Given the description of an element on the screen output the (x, y) to click on. 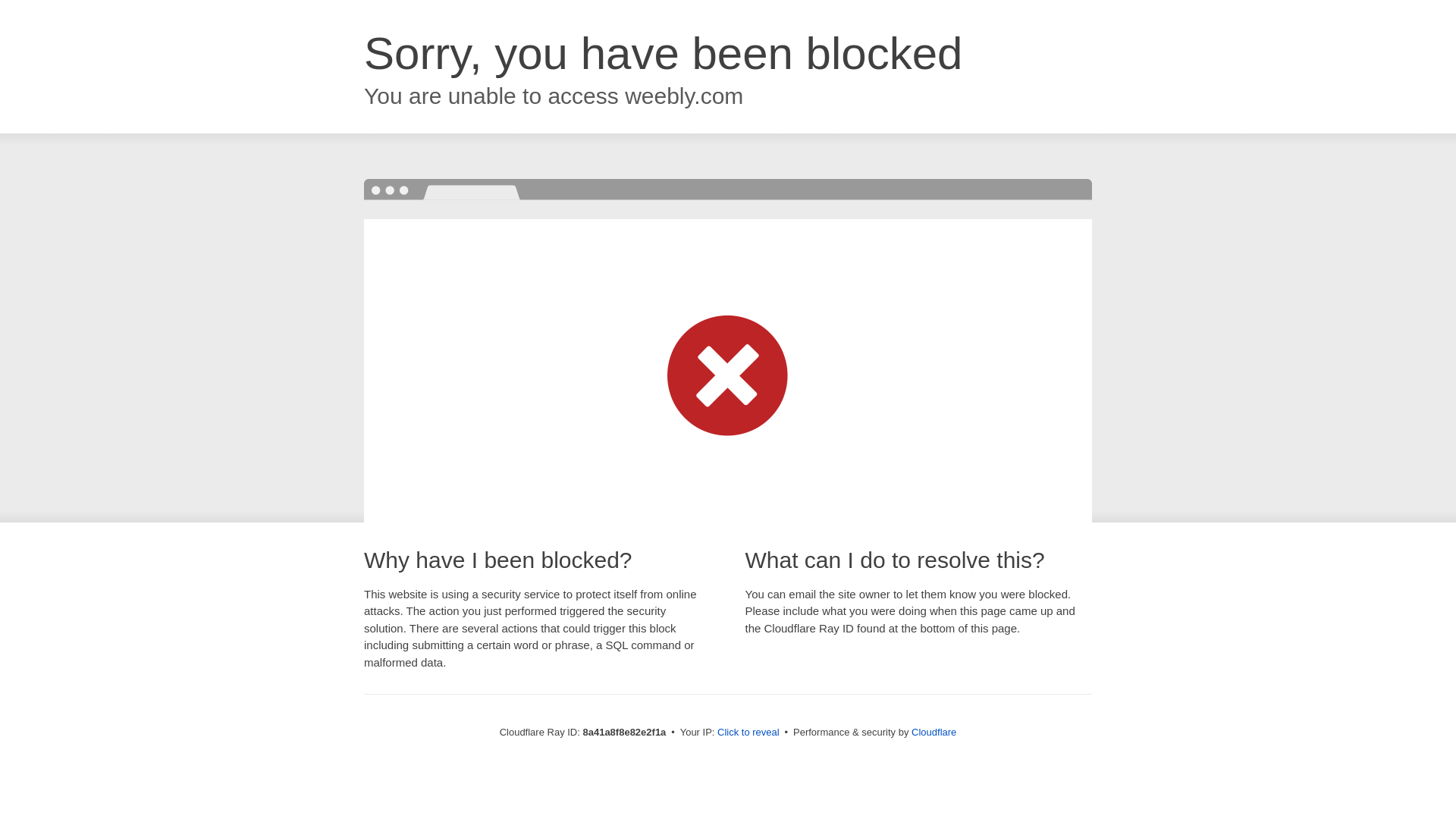
Cloudflare (933, 731)
Click to reveal (747, 732)
